Given the description of an element on the screen output the (x, y) to click on. 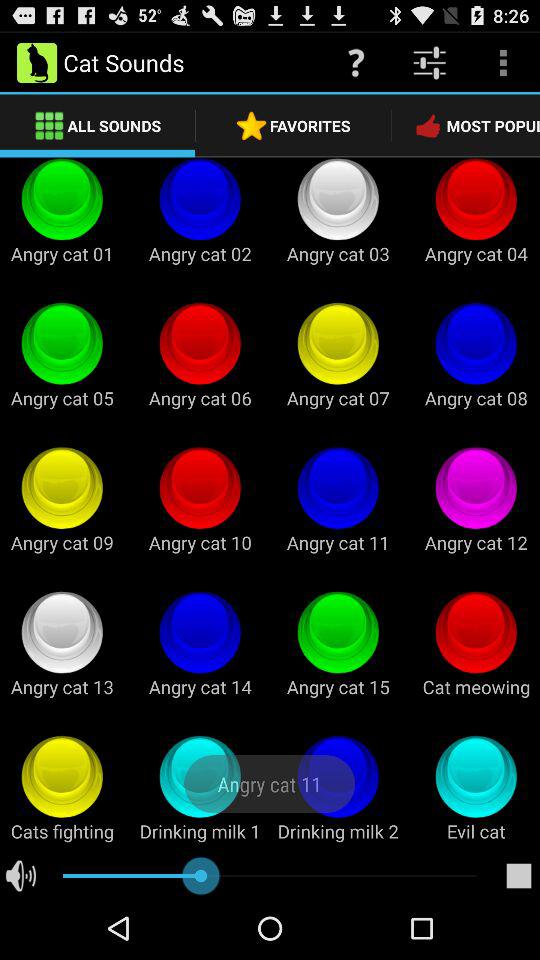
turn on app to the right of cat sounds item (356, 62)
